Given the description of an element on the screen output the (x, y) to click on. 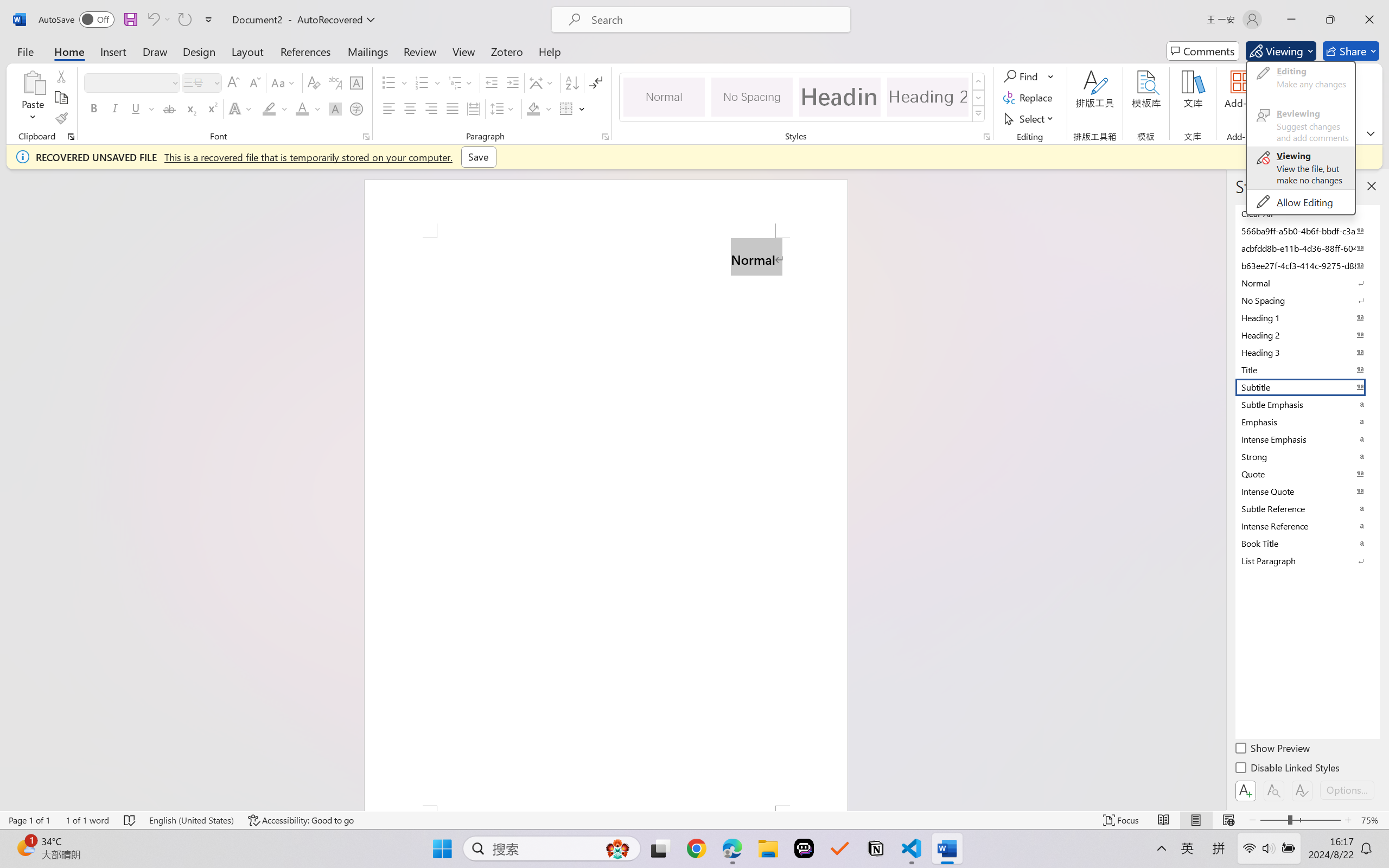
Sort... (571, 82)
Character Shading (334, 108)
Distributed (473, 108)
Enclose Characters... (356, 108)
Shading RGB(0, 0, 0) (533, 108)
Microsoft search (715, 19)
